Given the description of an element on the screen output the (x, y) to click on. 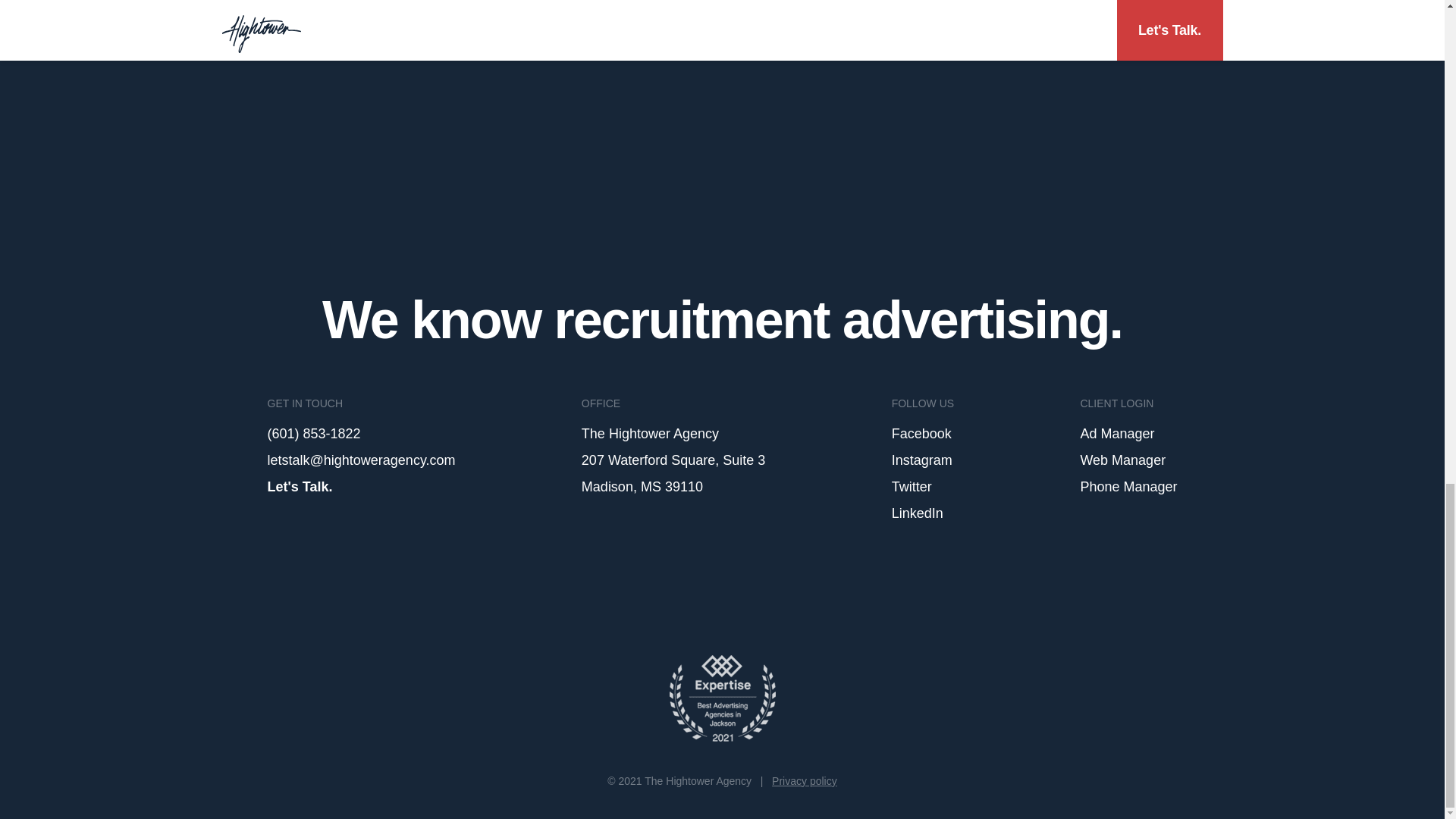
Twitter (911, 486)
LinkedIn (917, 513)
Instagram (921, 459)
Facebook (921, 433)
